Given the description of an element on the screen output the (x, y) to click on. 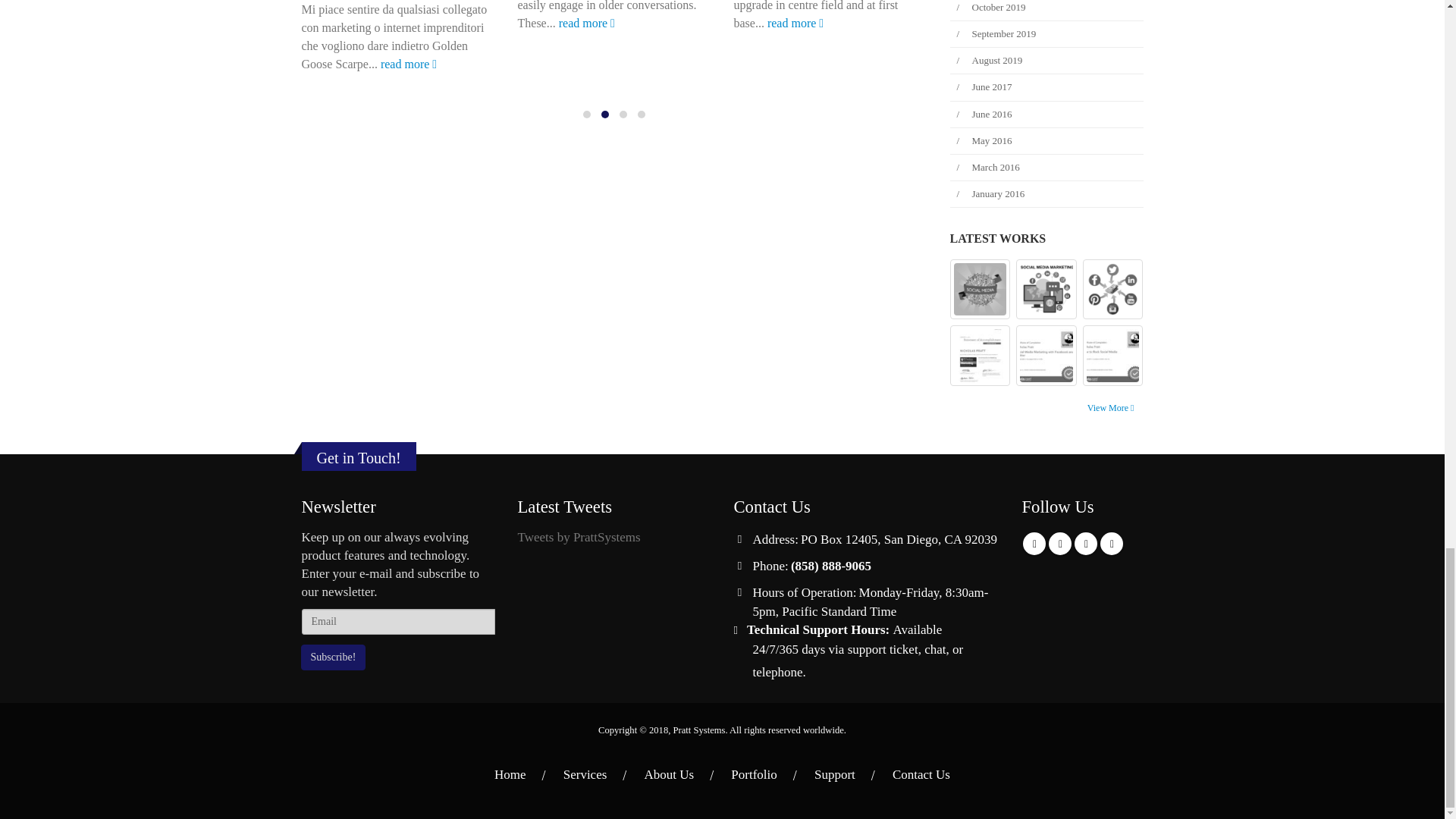
Subscribe! (332, 657)
